Given the description of an element on the screen output the (x, y) to click on. 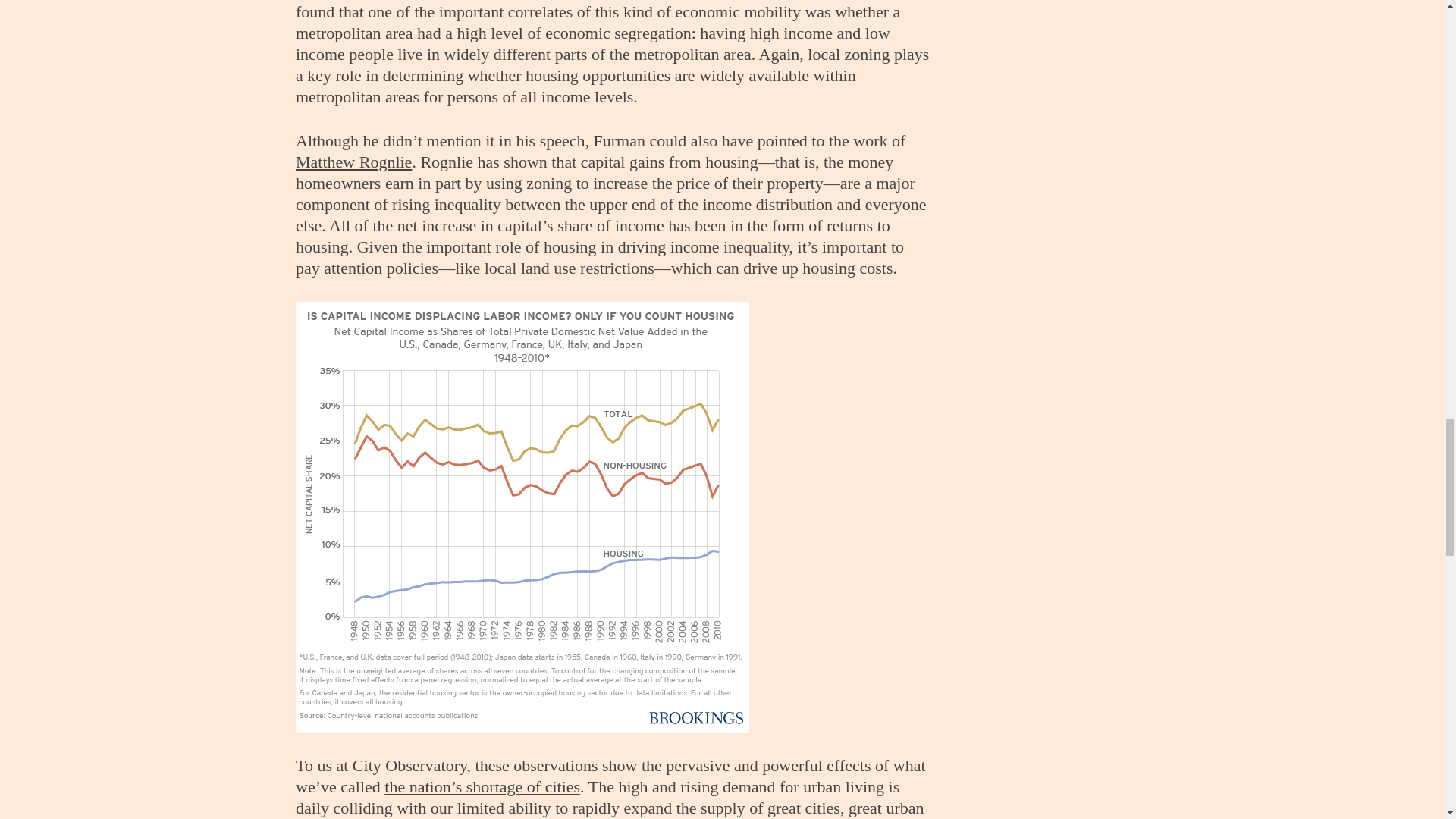
Matthew Rognlie (353, 160)
